Given the description of an element on the screen output the (x, y) to click on. 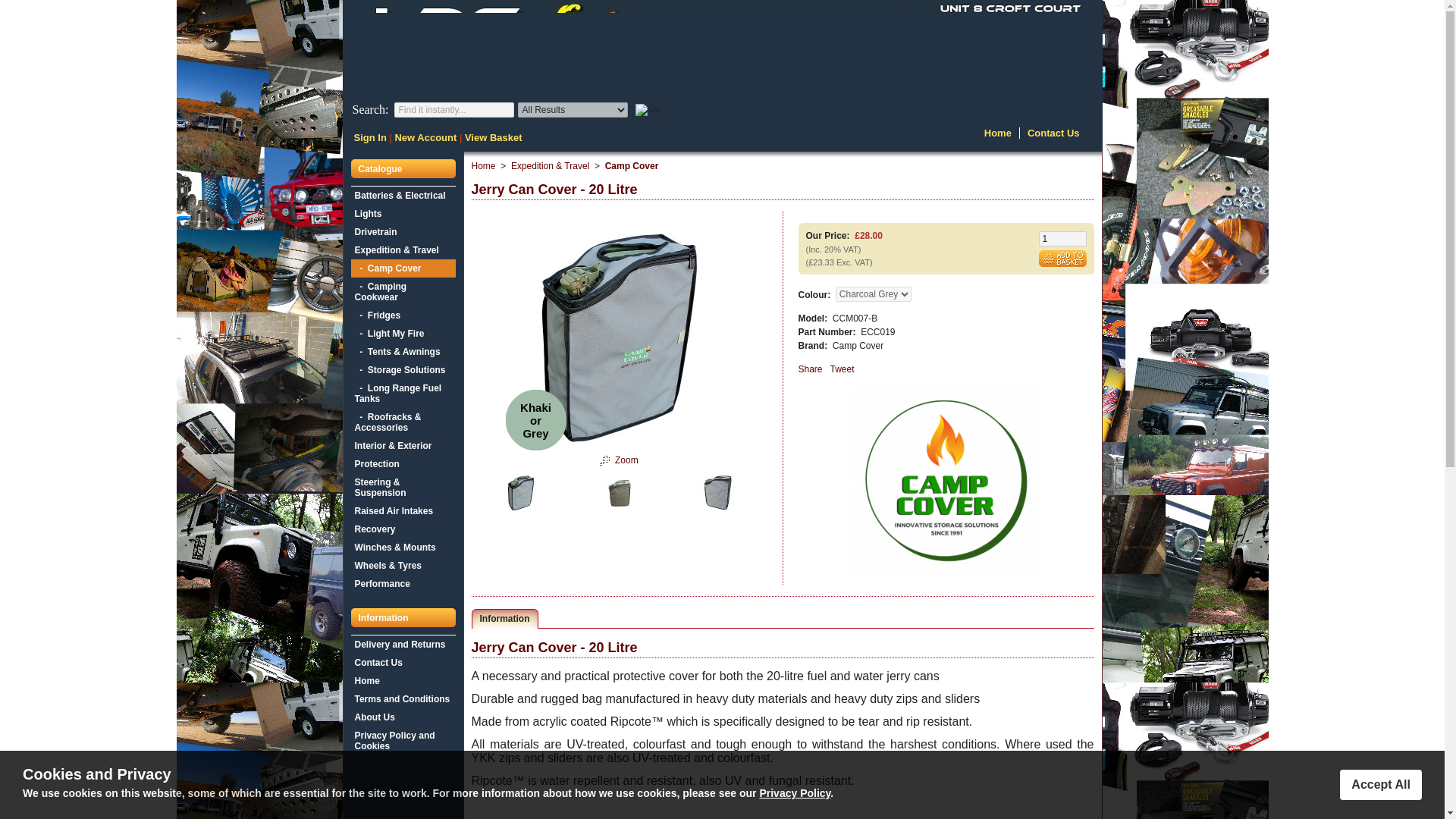
Share (809, 368)
  -  Light My Fire (402, 333)
  -  Camping Cookwear (402, 291)
Jerry Can Cover - 20 Litre (604, 461)
Lights (402, 213)
Go (646, 110)
Jerry Can Cover - 20 Litre (626, 460)
Zoom (626, 460)
Information (504, 618)
Recovery (402, 529)
